Given the description of an element on the screen output the (x, y) to click on. 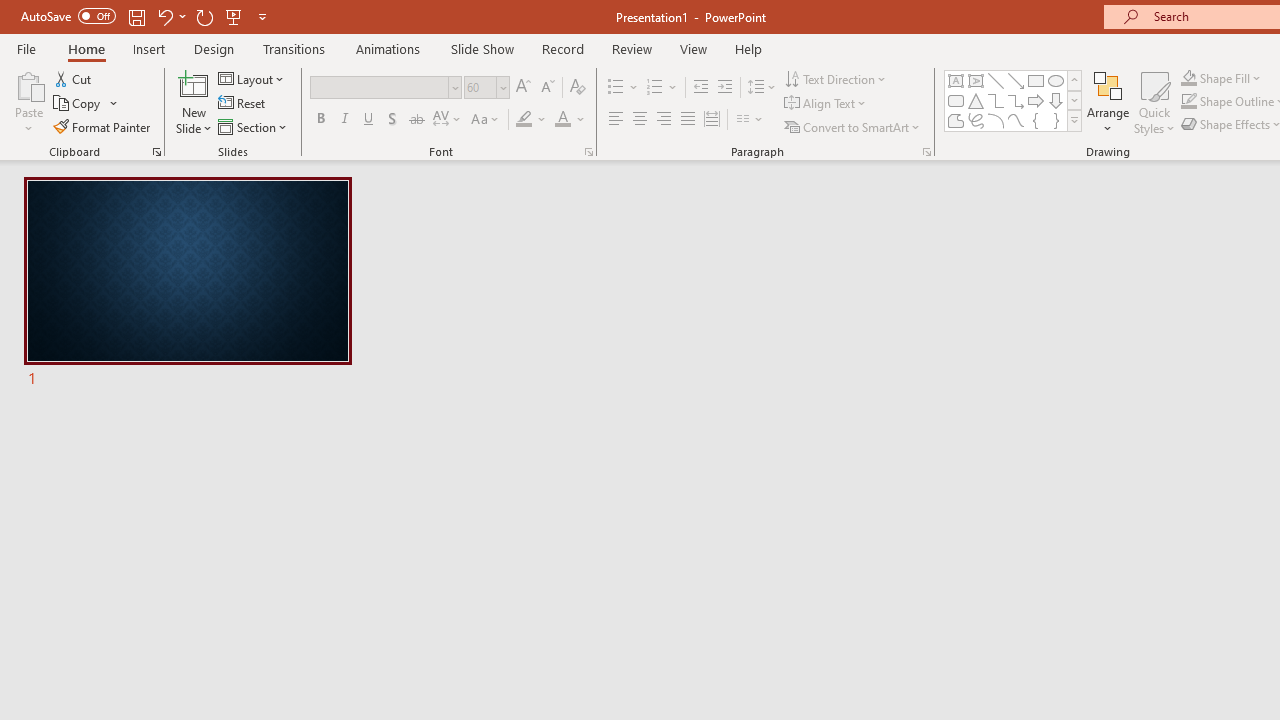
Shape Fill Orange, Accent 2 (1188, 78)
Shape Outline Blue, Accent 1 (1188, 101)
